Given the description of an element on the screen output the (x, y) to click on. 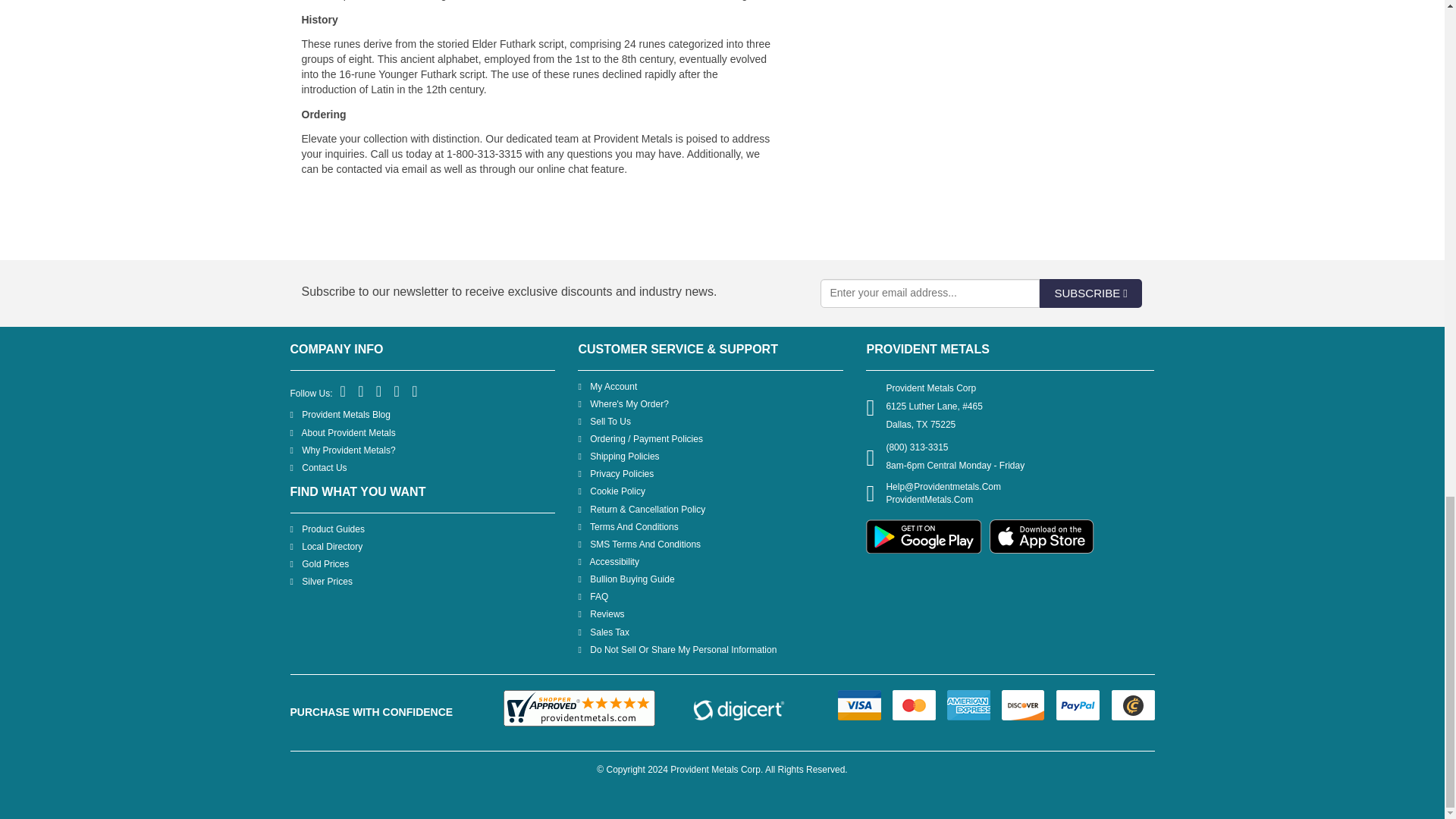
You Tube (397, 391)
Twitter (361, 391)
Pinterest (379, 391)
Facebook (344, 391)
Instagram (415, 391)
